Given the description of an element on the screen output the (x, y) to click on. 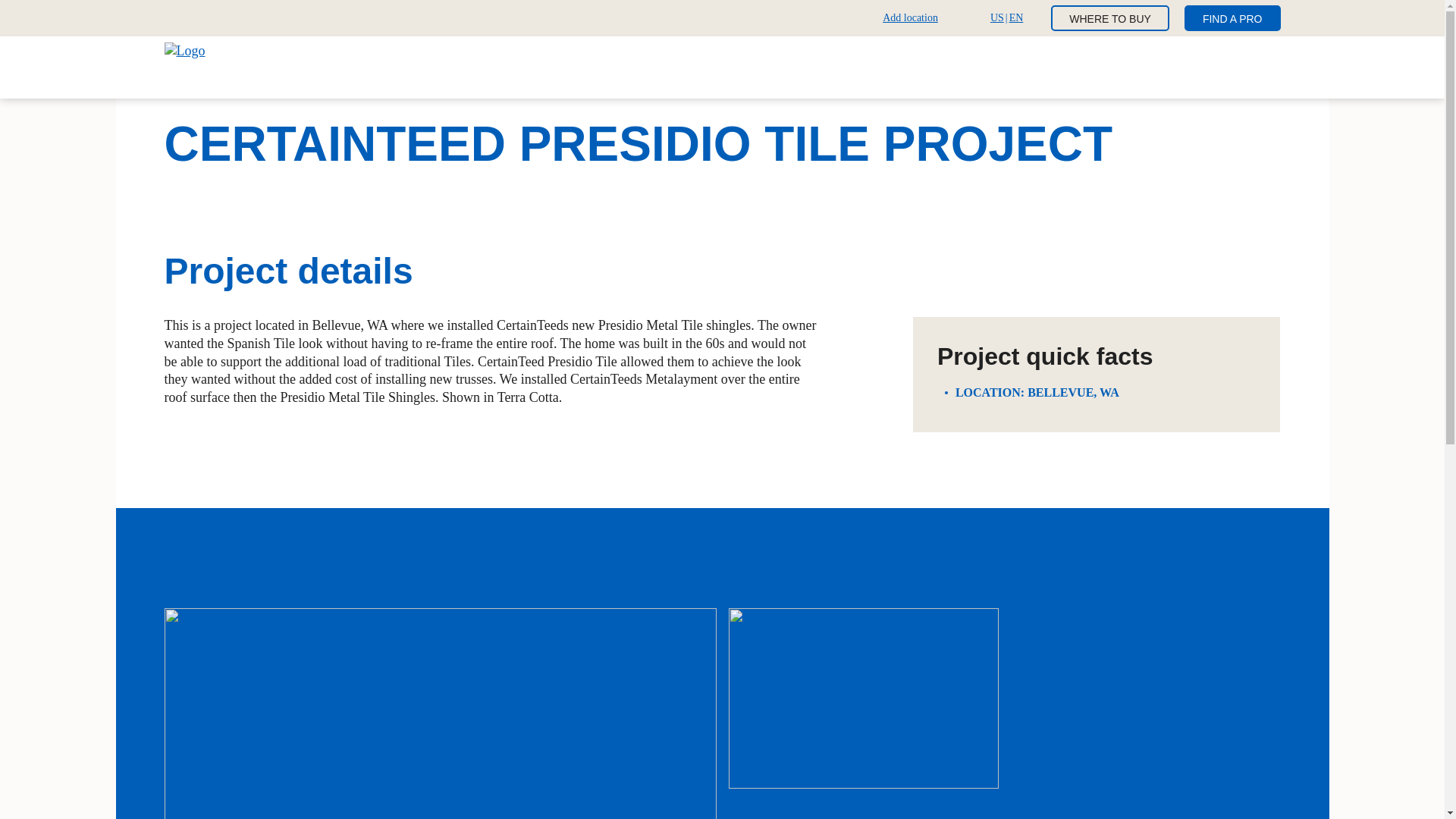
WHERE TO BUY (1110, 17)
Skip to main content (906, 18)
